Given the description of an element on the screen output the (x, y) to click on. 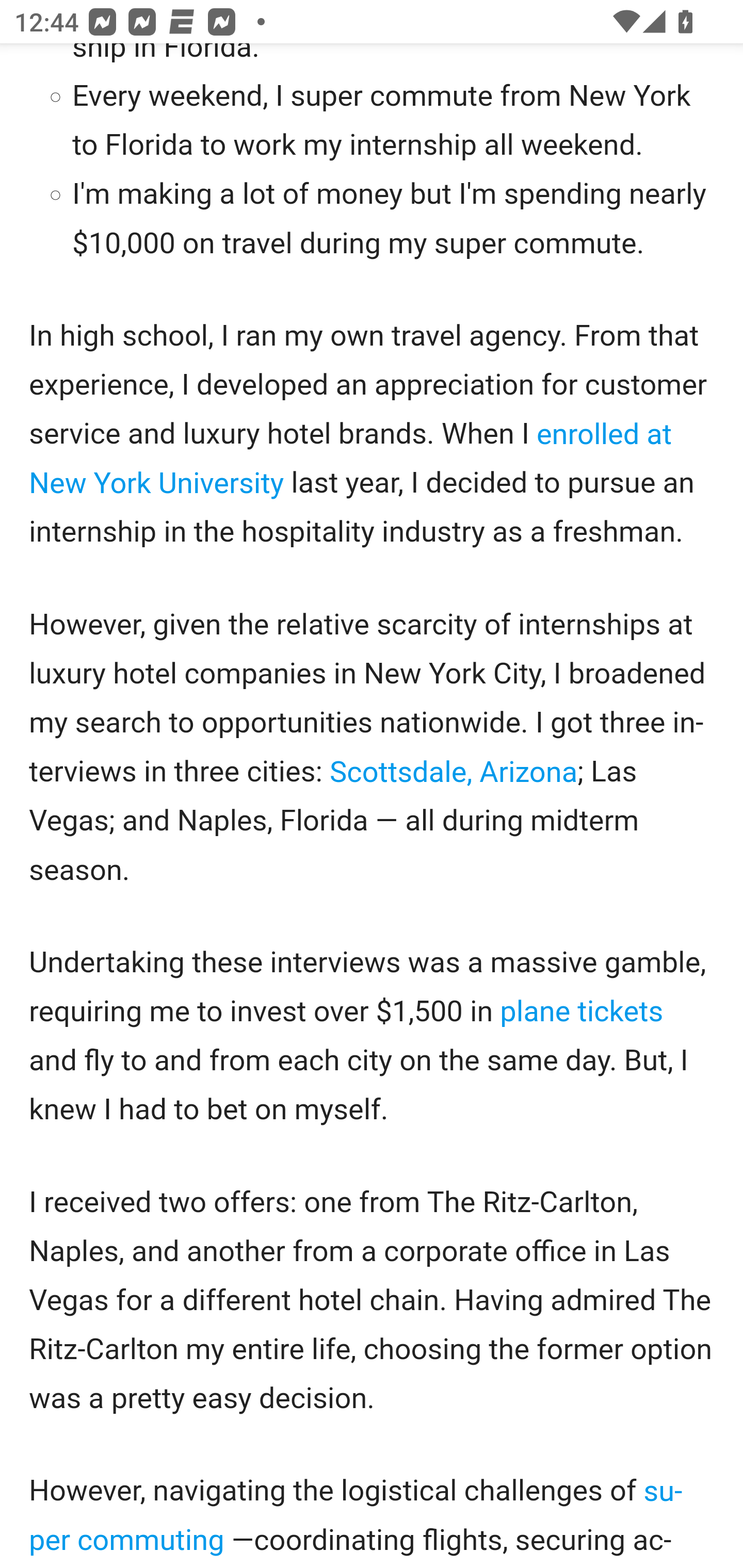
enrolled at New York University (350, 458)
Scottsdale, Arizona (453, 772)
plane tickets (581, 1012)
super commuting (356, 1515)
